Given the description of an element on the screen output the (x, y) to click on. 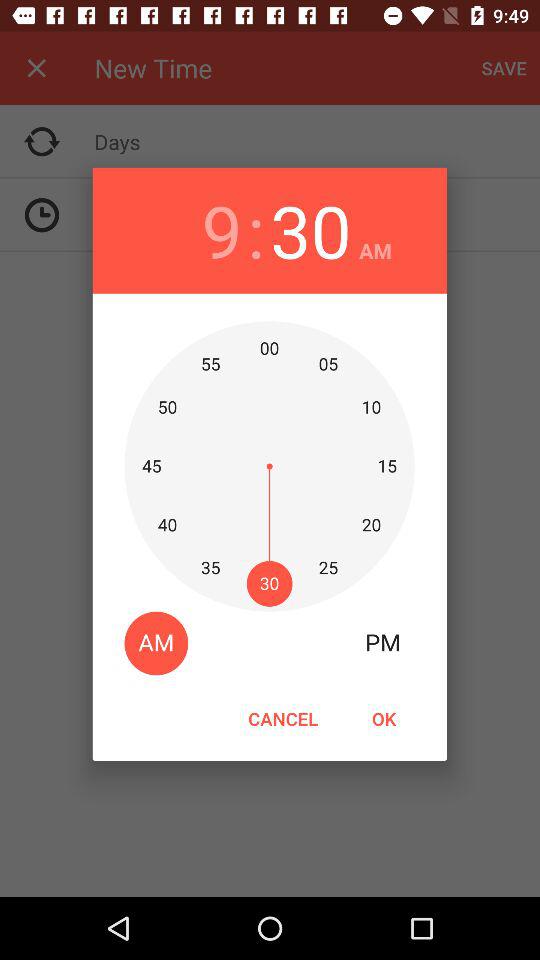
tap the icon next to the ok item (283, 718)
